Given the description of an element on the screen output the (x, y) to click on. 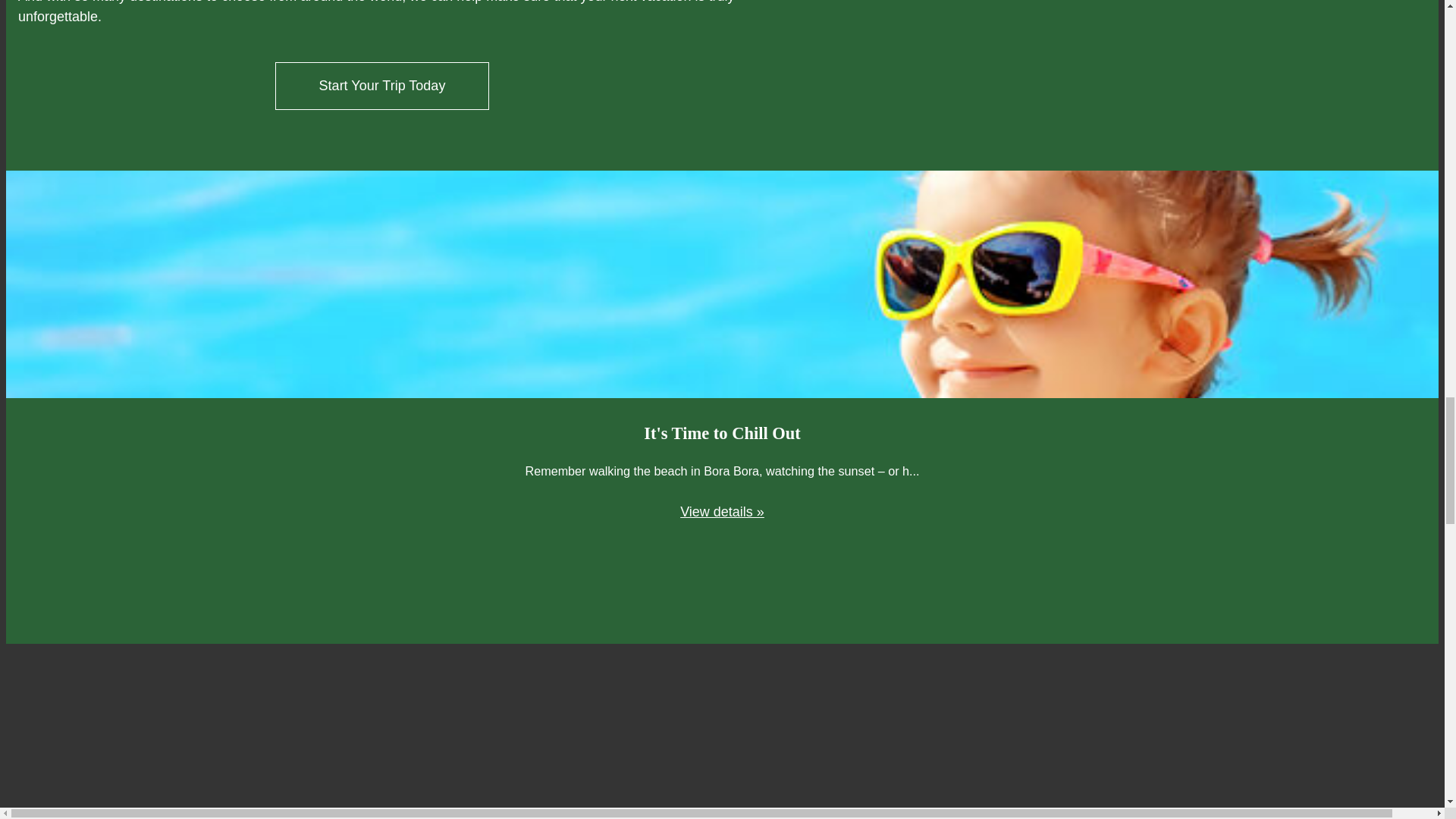
Start Your Trip Today (382, 85)
